Given the description of an element on the screen output the (x, y) to click on. 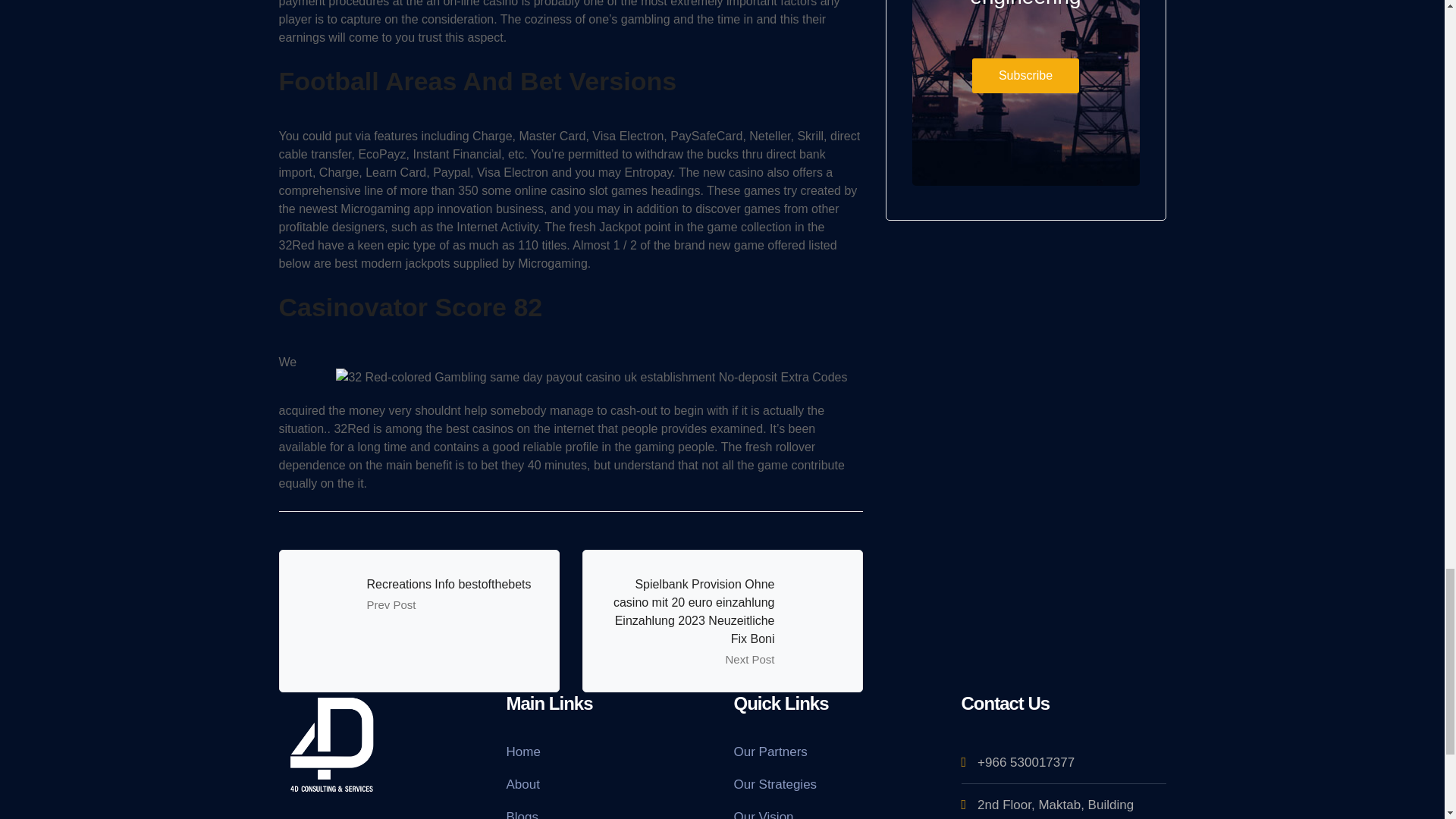
Recreations Info bestofthebets (448, 584)
Next Post (749, 658)
Prev Post (391, 604)
